Given the description of an element on the screen output the (x, y) to click on. 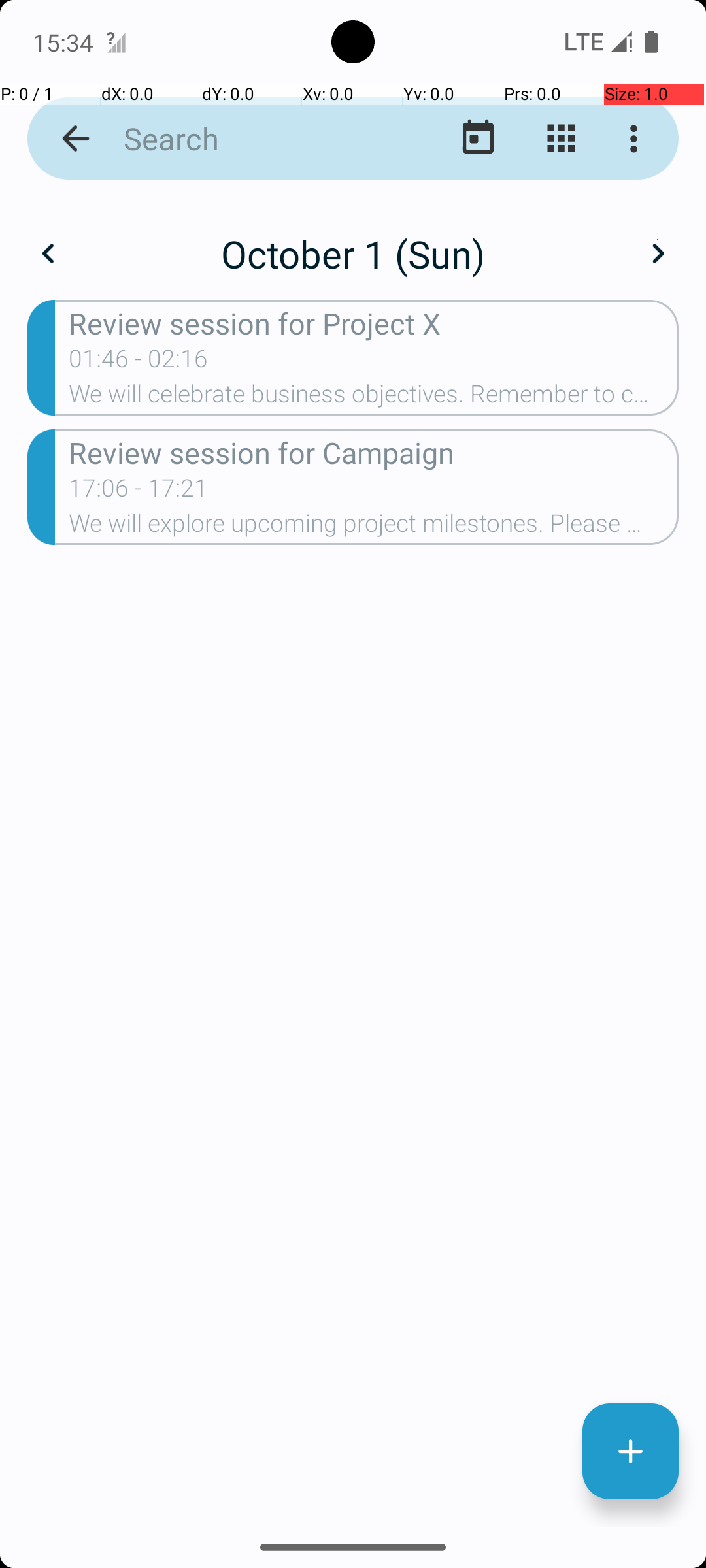
October 1 (Sun) Element type: android.widget.TextView (352, 253)
01:46 - 02:16 Element type: android.widget.TextView (137, 362)
We will celebrate business objectives. Remember to confirm attendance. Element type: android.widget.TextView (373, 397)
17:06 - 17:21 Element type: android.widget.TextView (137, 491)
We will explore upcoming project milestones. Please bring relevant documents. Element type: android.widget.TextView (373, 526)
